Given the description of an element on the screen output the (x, y) to click on. 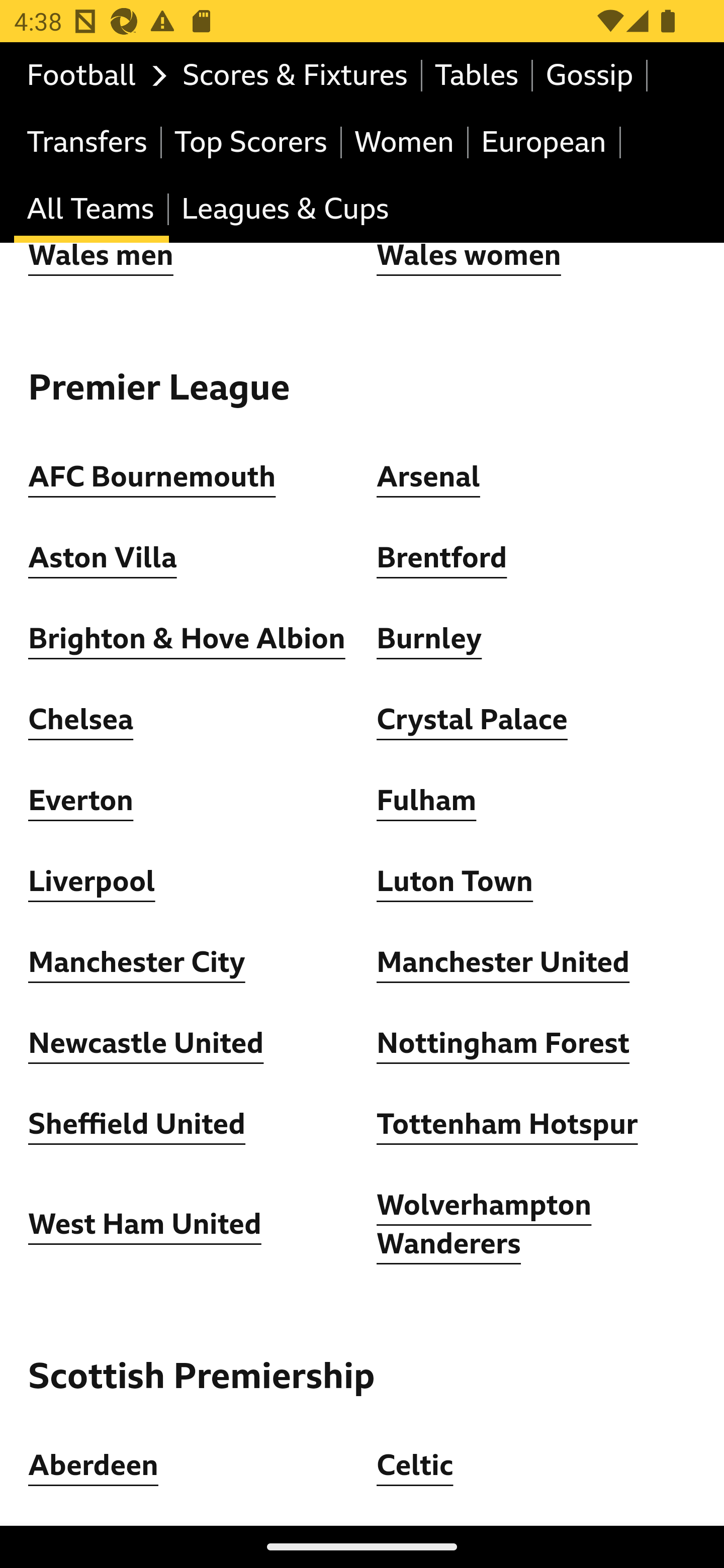
Wales men (100, 256)
Wales women (468, 256)
AFC Bournemouth (151, 477)
Arsenal (428, 477)
Aston Villa (102, 559)
Brentford (442, 559)
Brighton & Hove Albion (187, 640)
Burnley (429, 640)
Chelsea (80, 721)
Crystal Palace (472, 721)
Everton (80, 802)
Fulham (426, 802)
Liverpool (92, 882)
Luton Town (455, 882)
Manchester City (137, 964)
Manchester United (503, 964)
Newcastle United (146, 1045)
Nottingham Forest (503, 1045)
Sheffield United (137, 1125)
Tottenham Hotspur (507, 1125)
Wolverhampton Wanderers (484, 1225)
West Ham United (145, 1225)
Aberdeen (94, 1466)
Celtic (414, 1466)
